Given the description of an element on the screen output the (x, y) to click on. 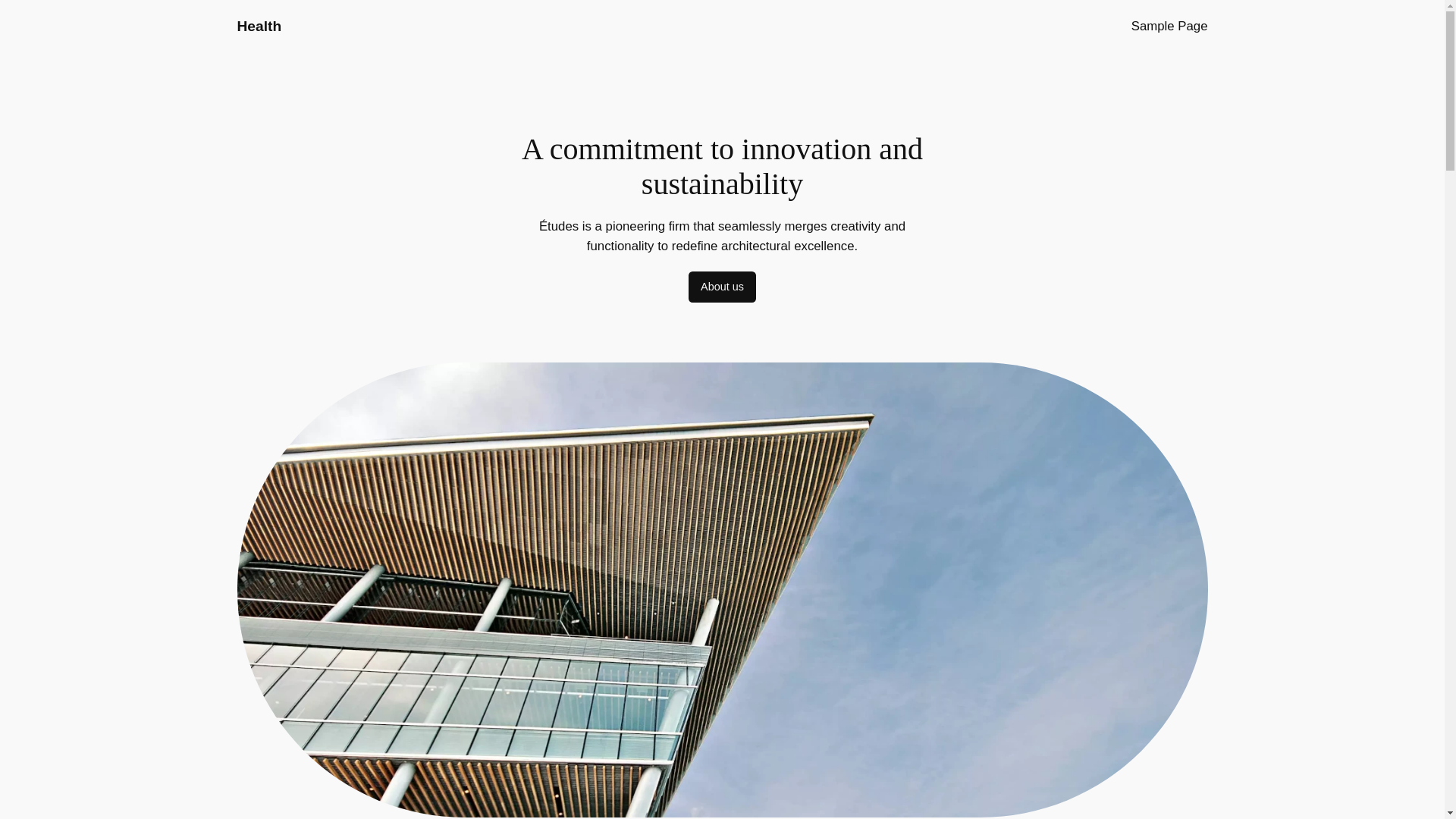
Sample Page (1169, 26)
Health (258, 26)
About us (721, 287)
